Given the description of an element on the screen output the (x, y) to click on. 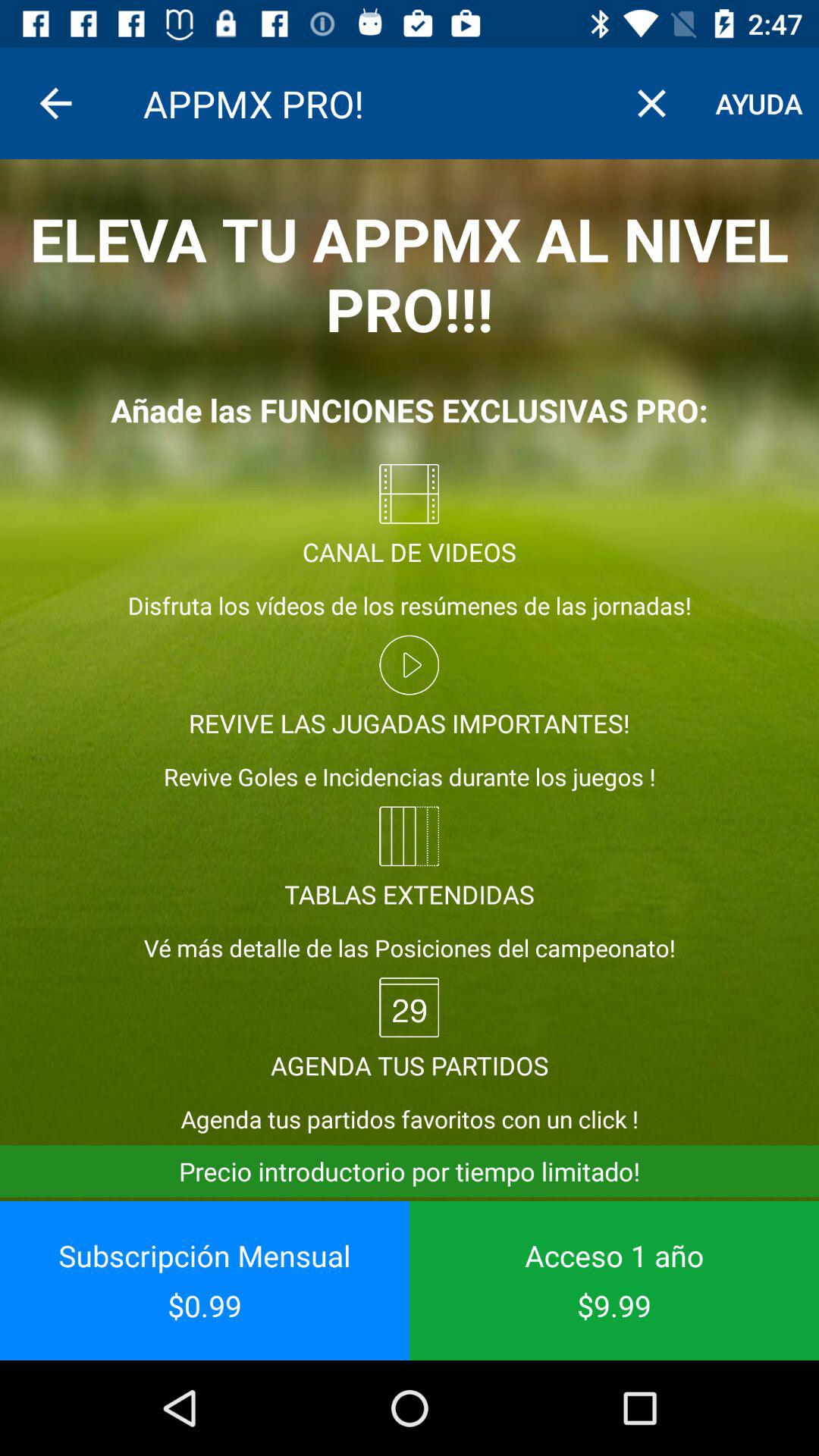
press item above eleva tu appmx item (55, 103)
